Given the description of an element on the screen output the (x, y) to click on. 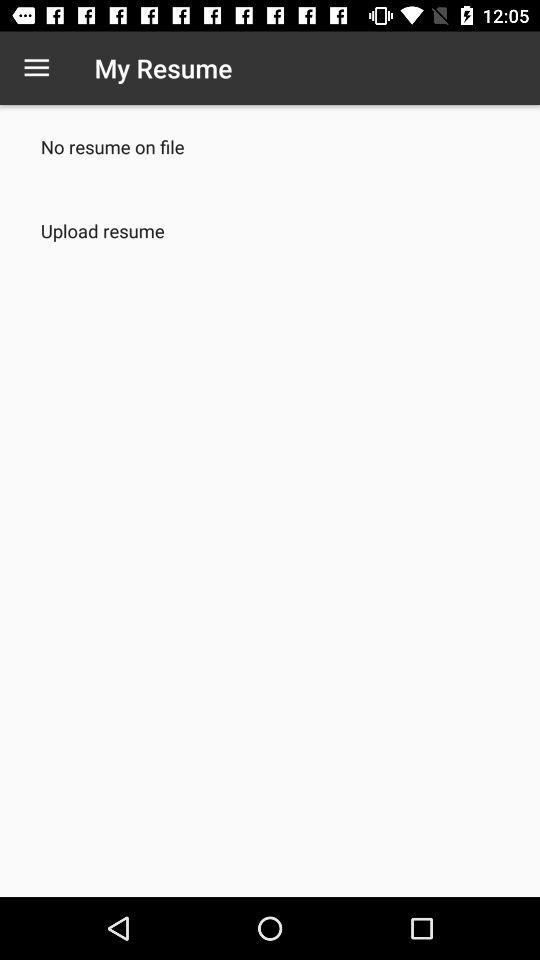
click the item to the left of the my resume (36, 68)
